Given the description of an element on the screen output the (x, y) to click on. 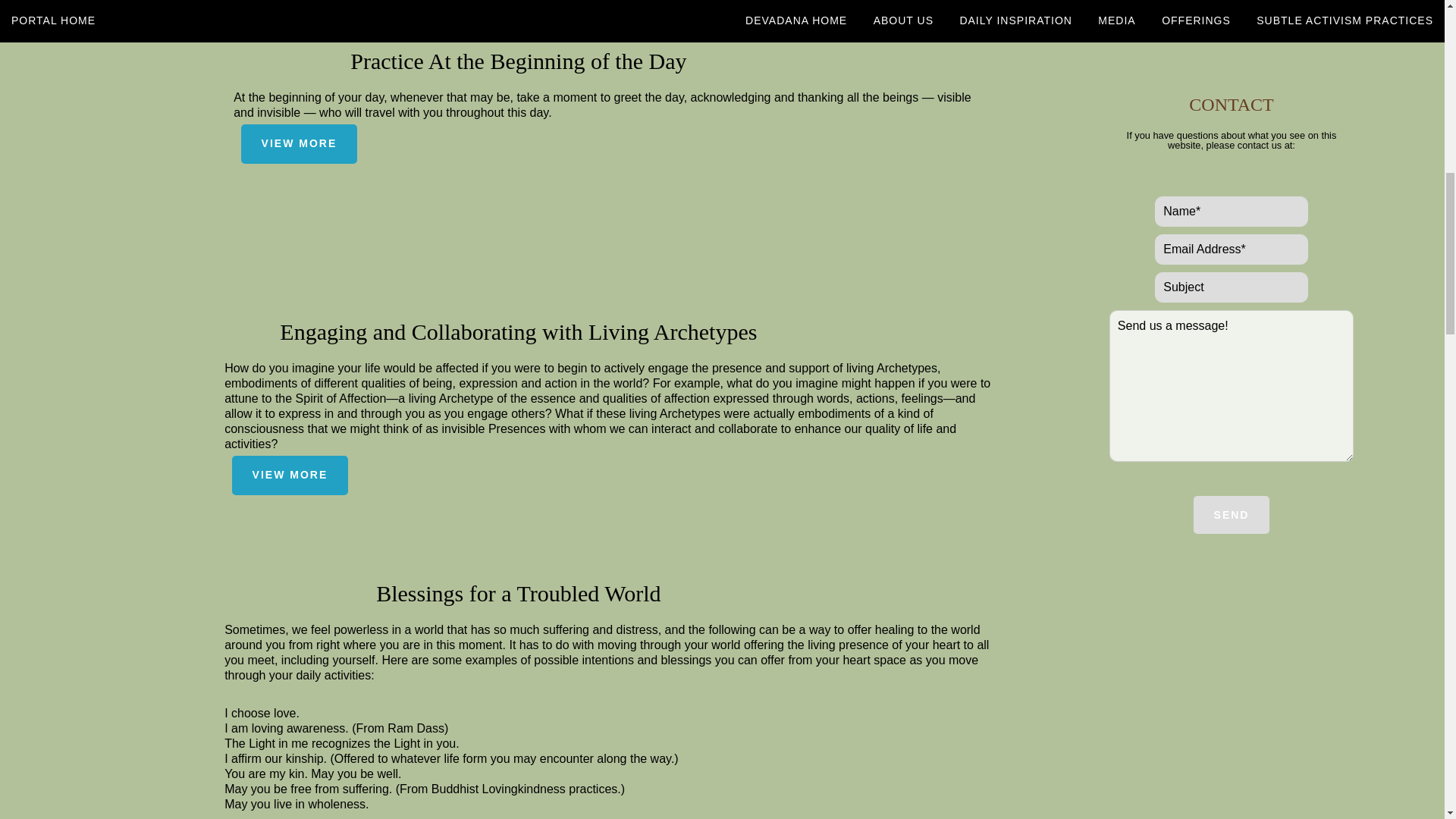
Send (1231, 514)
